Given the description of an element on the screen output the (x, y) to click on. 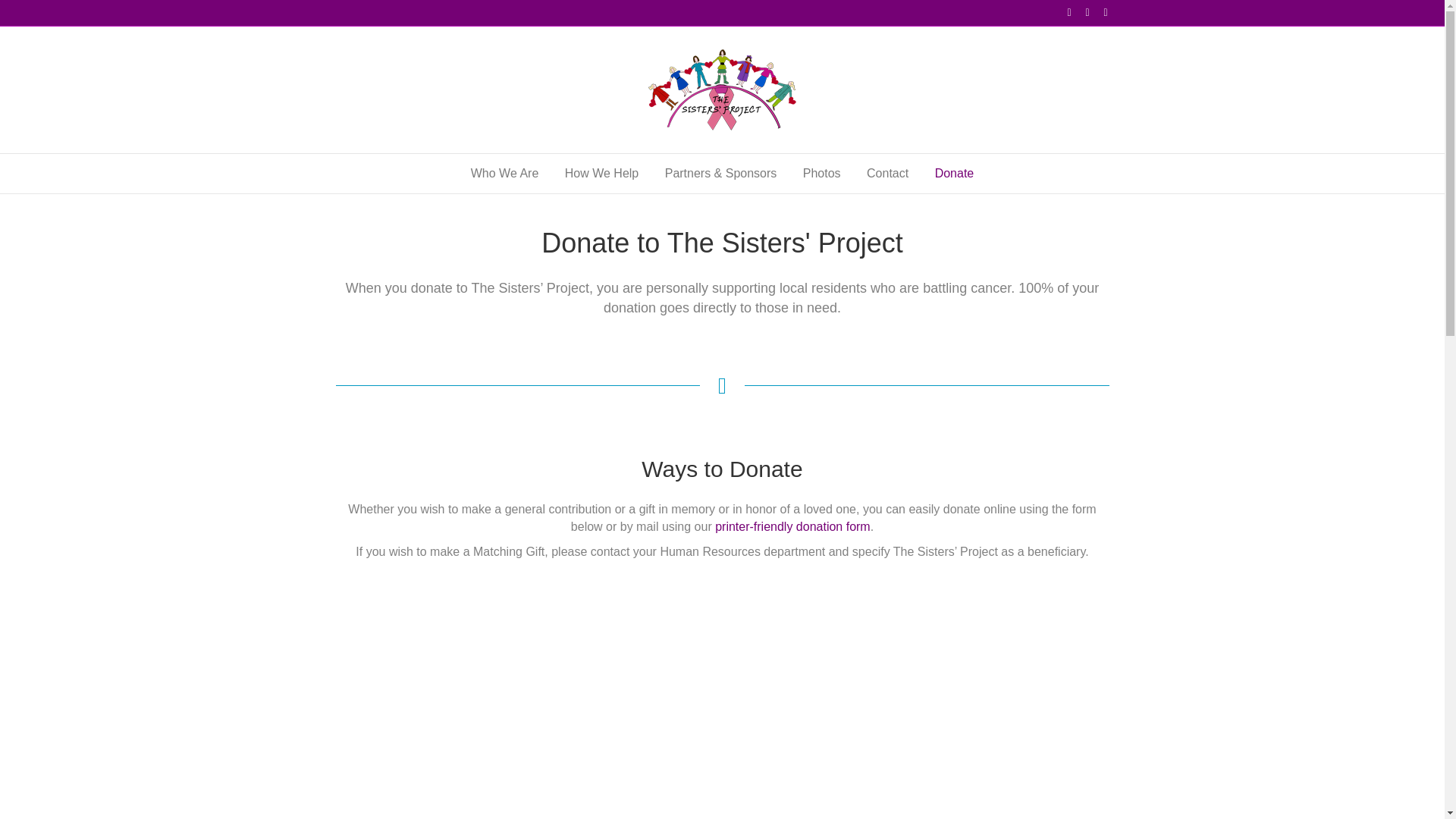
How We Help (601, 173)
Donate (954, 173)
Facebook (1061, 11)
Contact (888, 173)
Instagram (1097, 11)
Photos (821, 173)
Twitter (1079, 11)
Who We Are (505, 173)
printer-friendly donation form (792, 526)
